Given the description of an element on the screen output the (x, y) to click on. 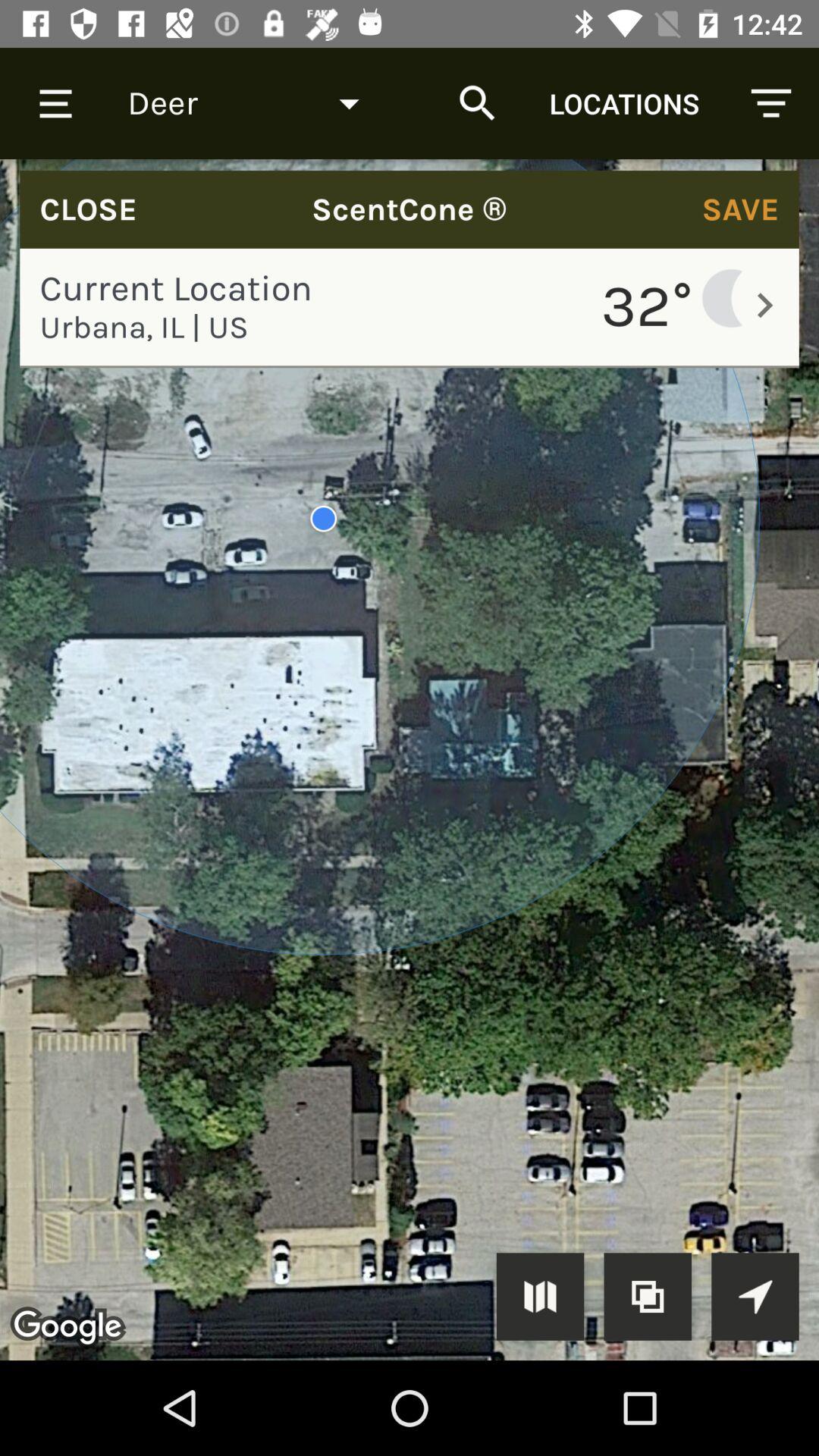
zoom the image (647, 1296)
